Given the description of an element on the screen output the (x, y) to click on. 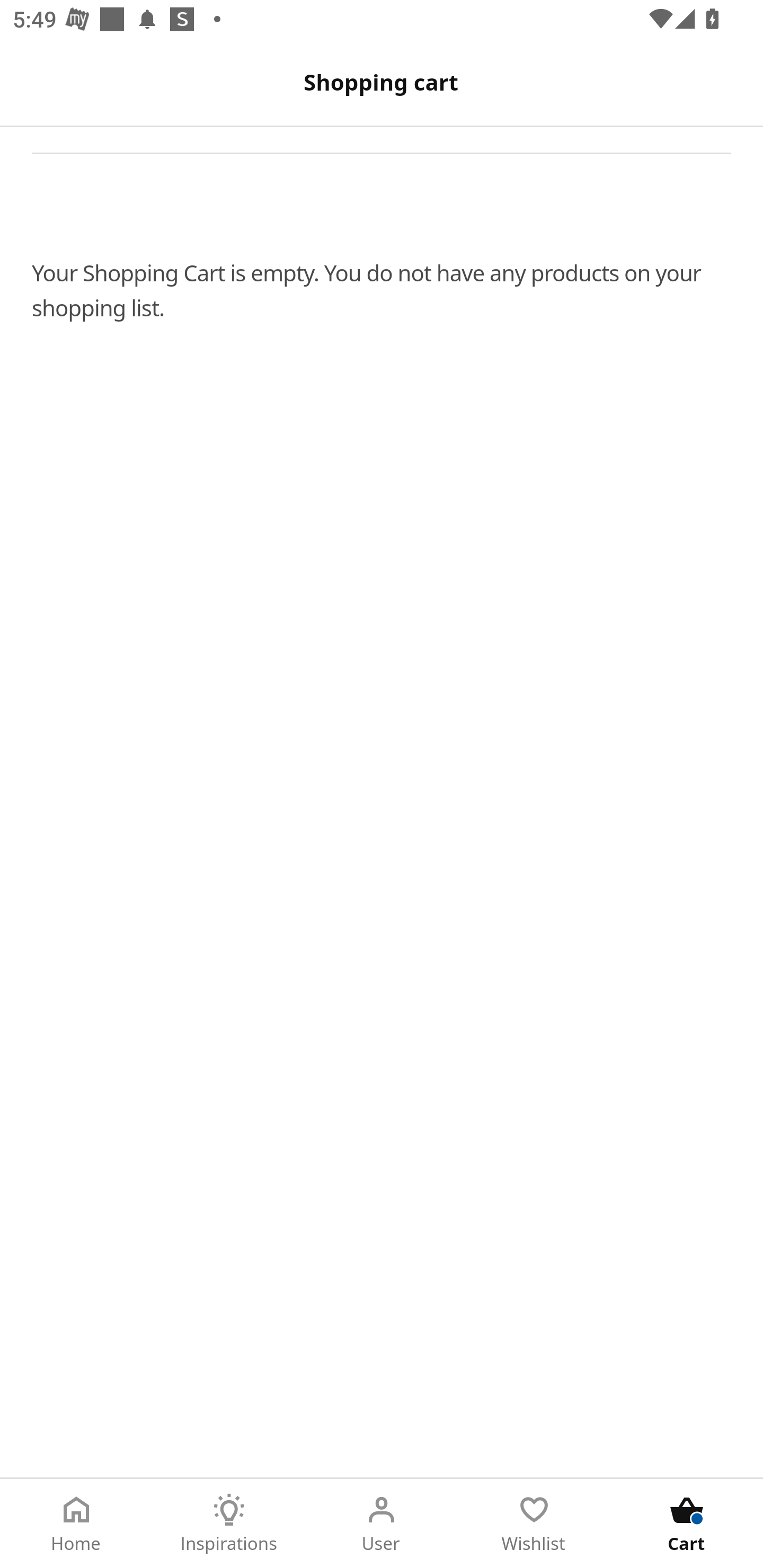
Home
Tab 1 of 5 (76, 1522)
Inspirations
Tab 2 of 5 (228, 1522)
User
Tab 3 of 5 (381, 1522)
Wishlist
Tab 4 of 5 (533, 1522)
Cart
Tab 5 of 5 (686, 1522)
